Given the description of an element on the screen output the (x, y) to click on. 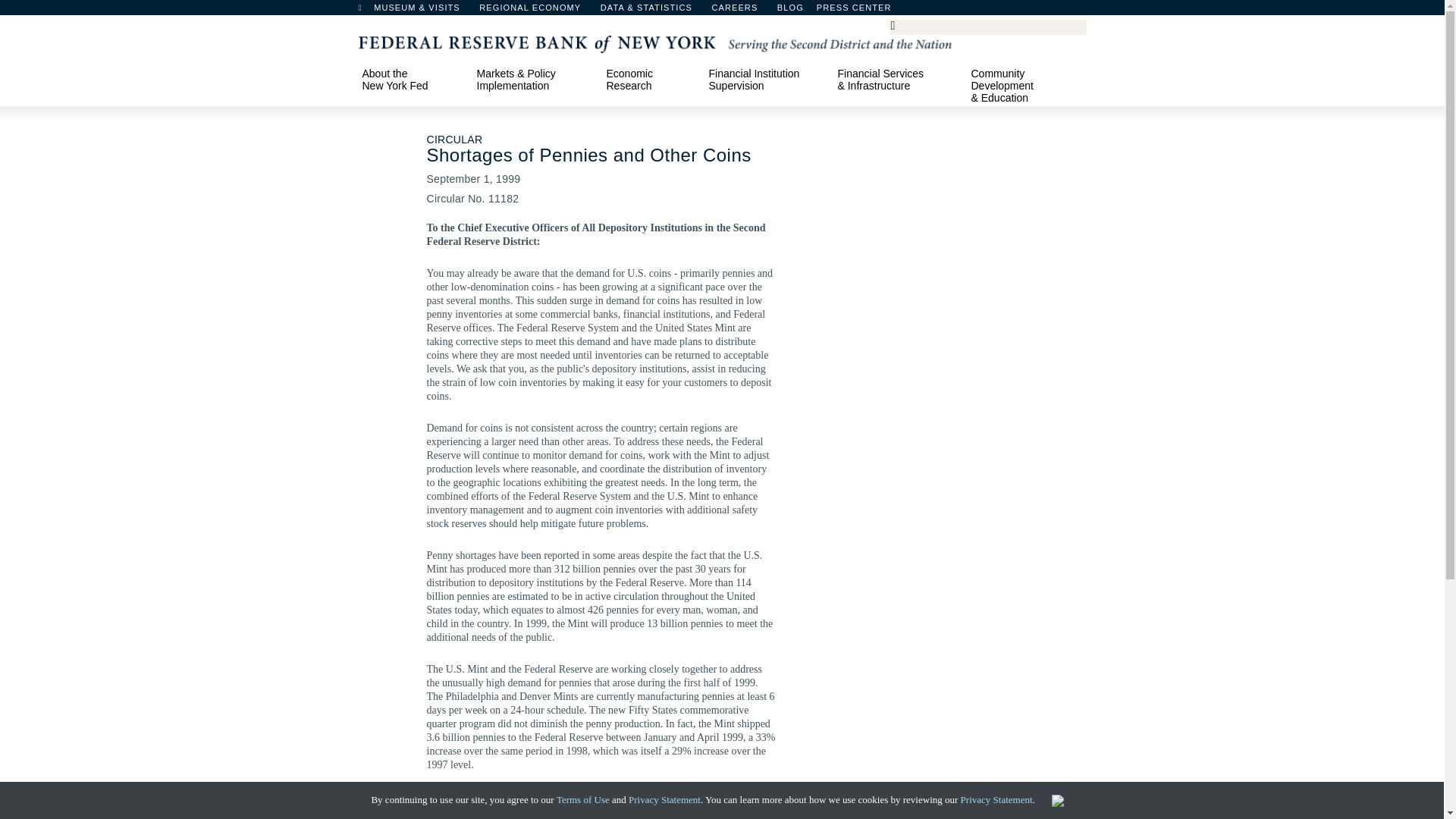
Federal Reserve Bank of New York (654, 42)
PRESS CENTER (861, 11)
About the New York Fed (411, 79)
Liberty Street Economics Blog (830, 11)
Regional Economy (537, 11)
CAREERS (742, 11)
Search Form (987, 27)
Home (367, 11)
BLOG (830, 11)
REGIONAL ECONOMY (537, 11)
